Given the description of an element on the screen output the (x, y) to click on. 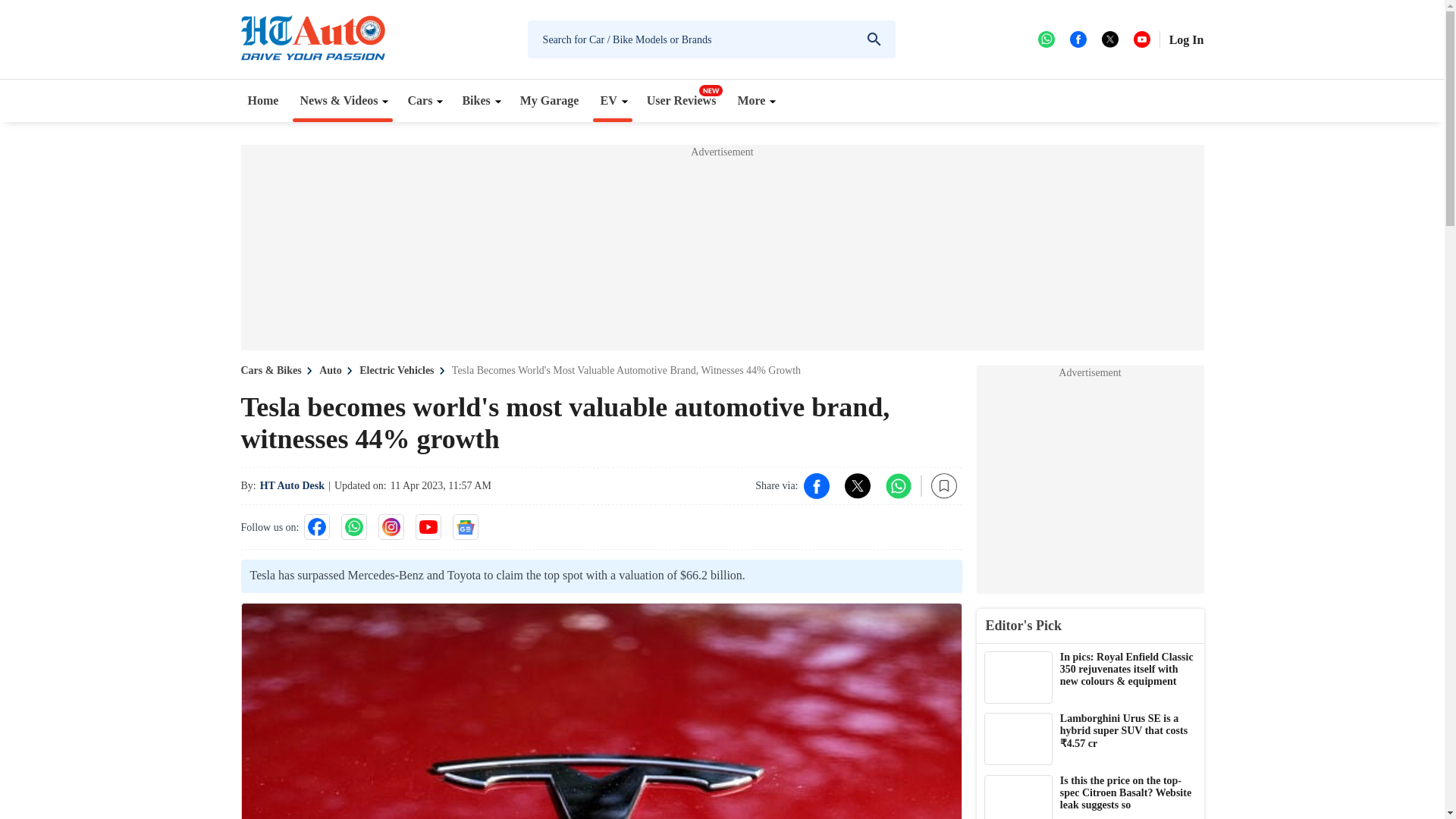
Log In (1186, 39)
Bikes (479, 100)
Home (263, 100)
EV (611, 100)
Tweet (857, 485)
Cars (423, 100)
Facebook Share (816, 485)
My Garage (549, 100)
